Given the description of an element on the screen output the (x, y) to click on. 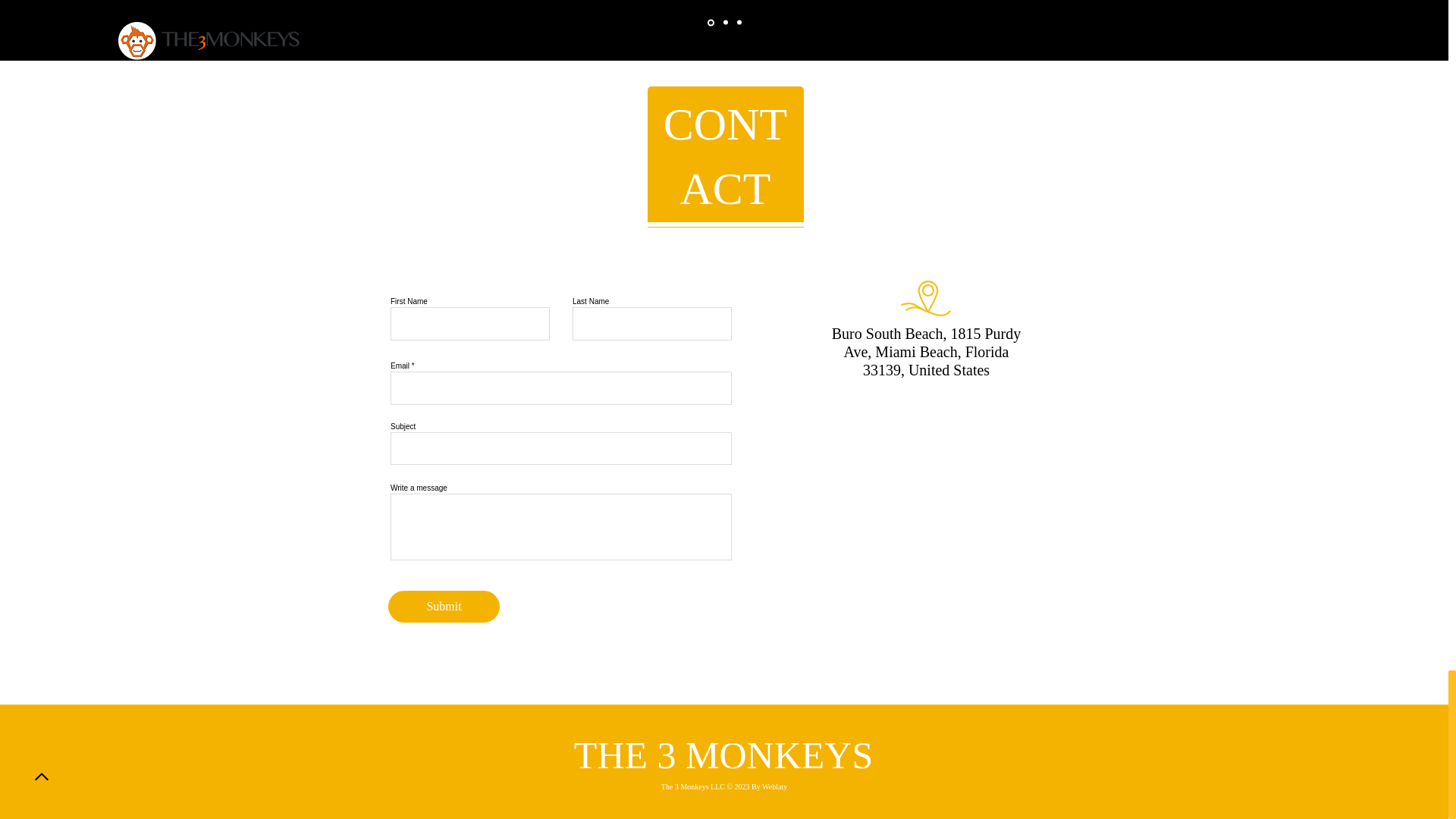
Submit (443, 606)
Weblaty (774, 786)
